Given the description of an element on the screen output the (x, y) to click on. 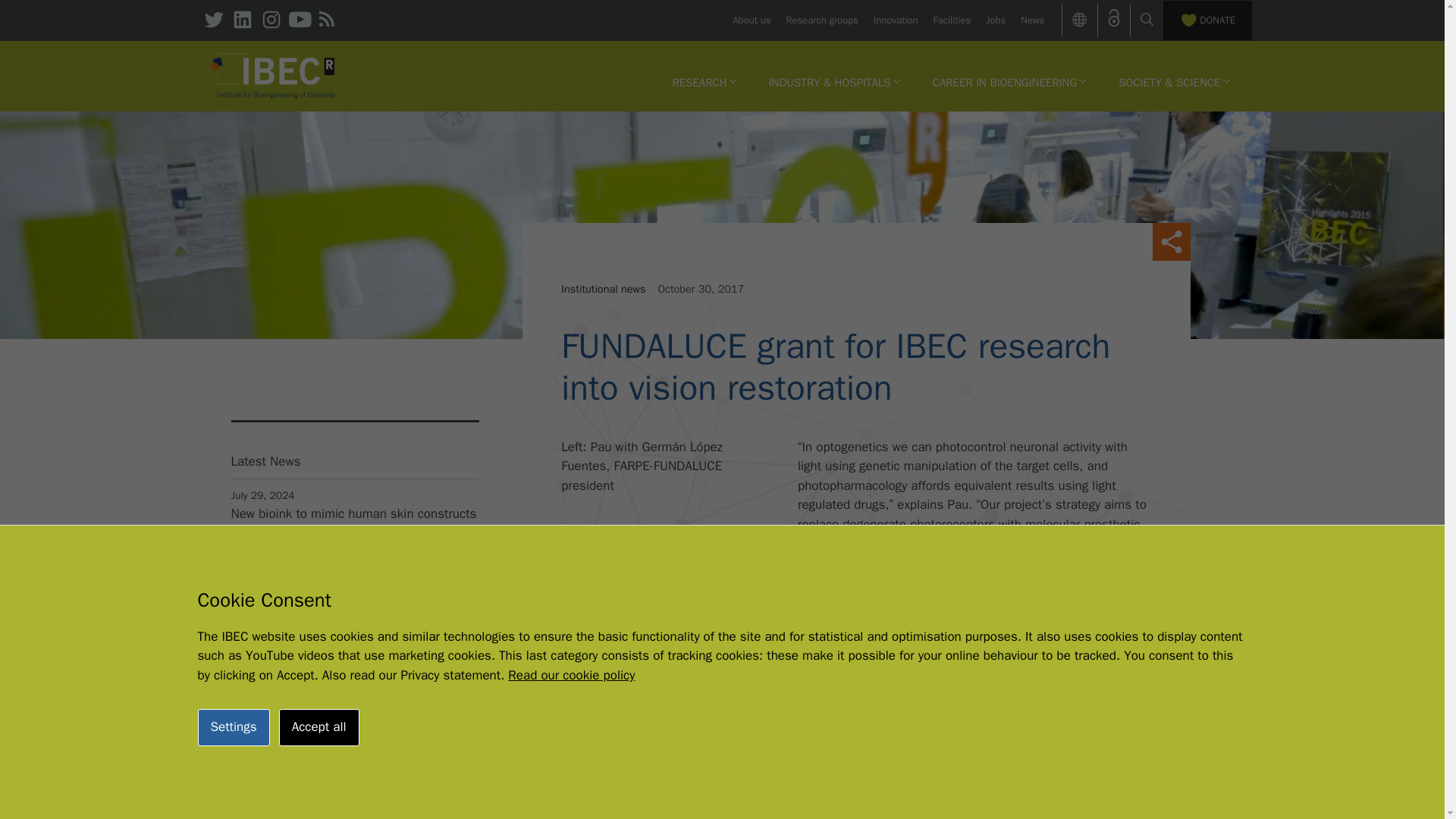
Institute for Bioengineering of Catalonia (272, 74)
DONATE (1207, 20)
Innovation (895, 19)
About us (751, 19)
Jobs (995, 19)
News (1031, 19)
Research groups (822, 19)
Institute for Bioengineering of Catalonia (272, 75)
RESEARCH (704, 81)
Facilities (952, 19)
